Given the description of an element on the screen output the (x, y) to click on. 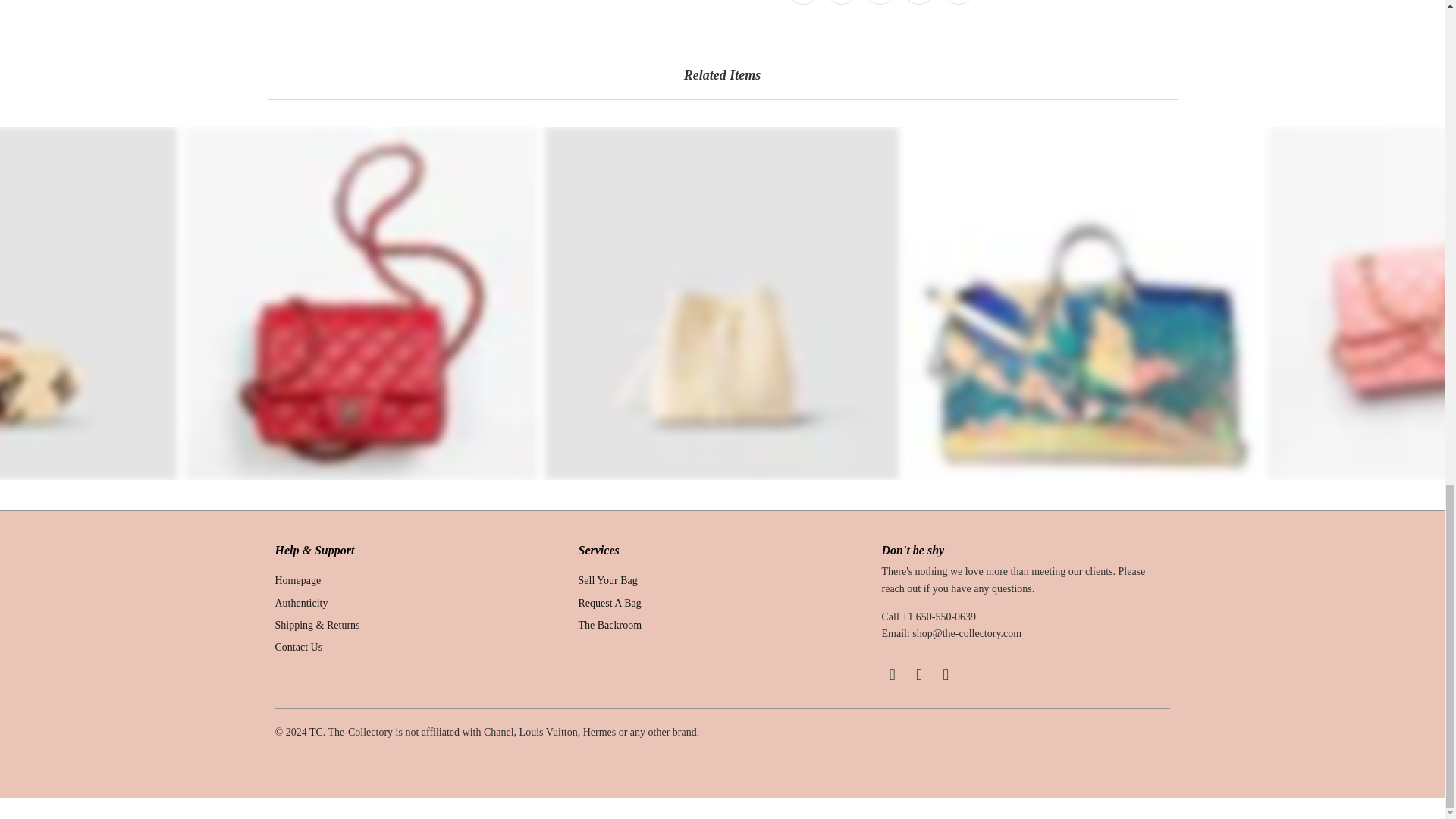
Share this on Facebook (841, 2)
Share this on Twitter (802, 2)
Email this to a friend (958, 2)
Share this on Pinterest (880, 2)
TC on Instagram (919, 674)
TC on Facebook (892, 674)
Email TC (946, 674)
